Given the description of an element on the screen output the (x, y) to click on. 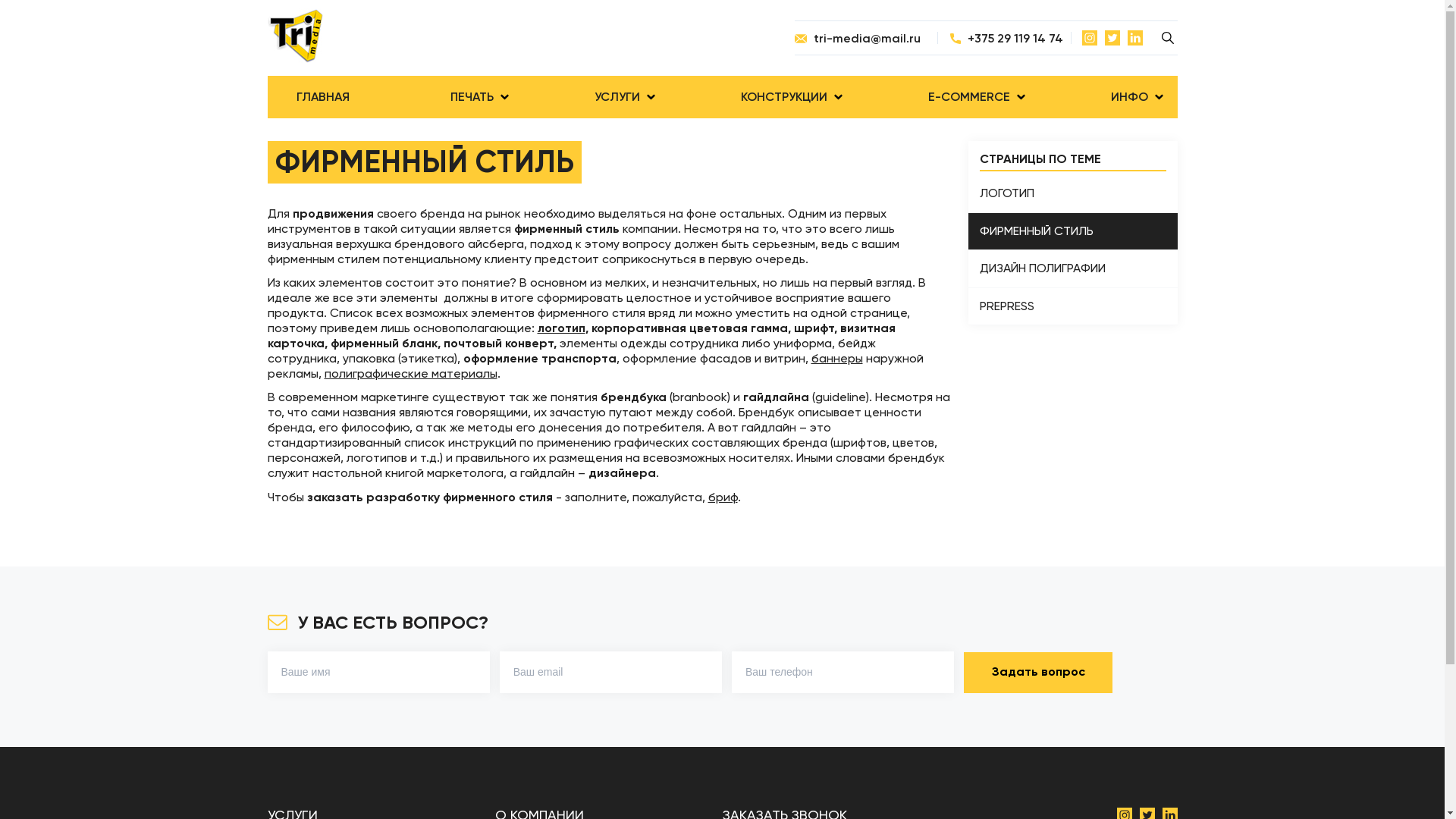
+375 29 119 14 74 Element type: text (1003, 37)
PREPRESS Element type: text (1071, 306)
E-COMMERCE Element type: text (968, 96)
tri-media@mail.ru Element type: text (866, 37)
